Given the description of an element on the screen output the (x, y) to click on. 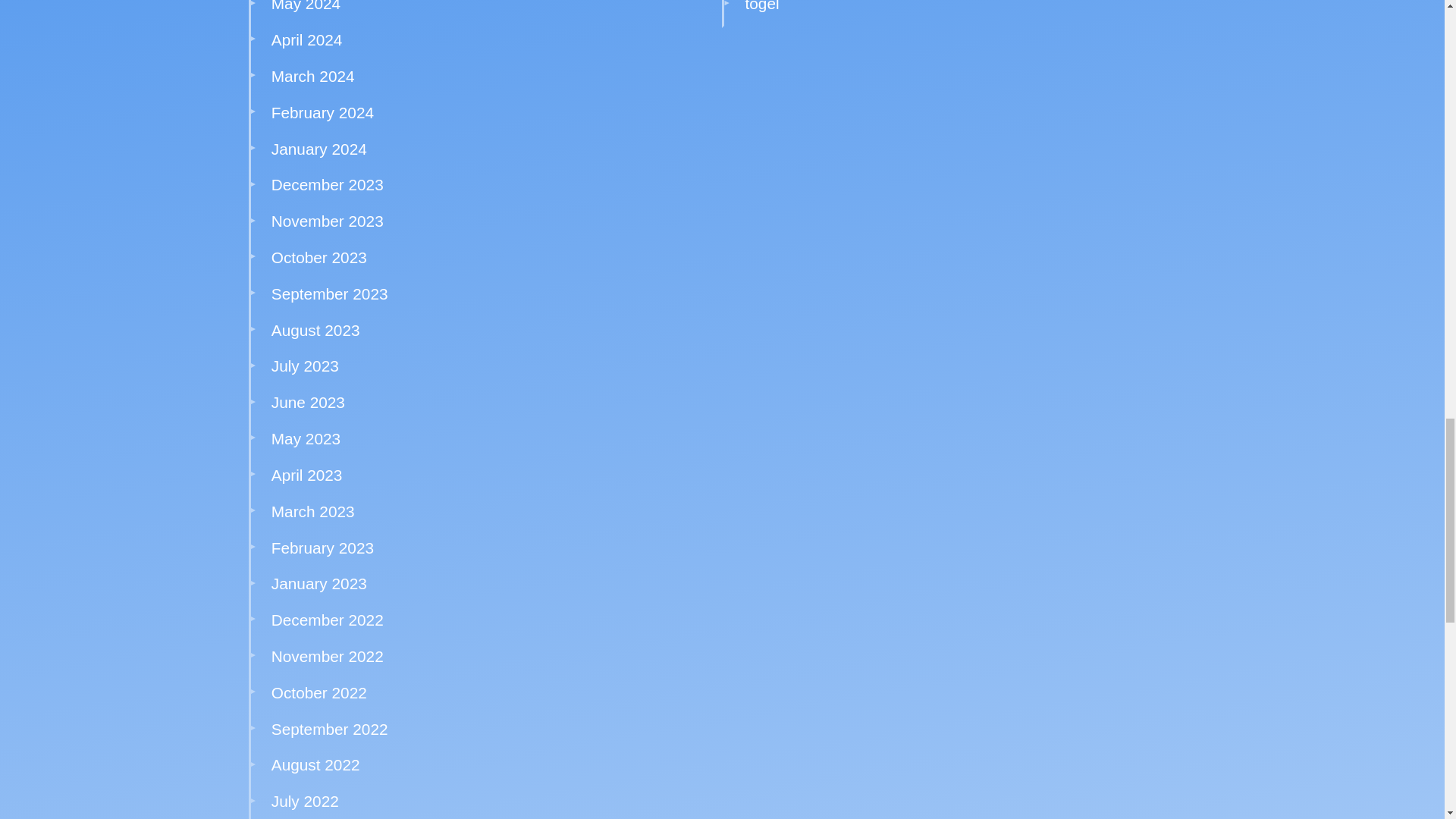
August 2022 (314, 764)
September 2022 (329, 728)
November 2022 (327, 656)
July 2022 (304, 800)
February 2024 (322, 112)
June 2023 (307, 402)
September 2023 (329, 293)
May 2024 (305, 6)
April 2023 (306, 475)
March 2024 (312, 76)
March 2023 (312, 511)
November 2023 (327, 221)
December 2023 (327, 184)
December 2022 (327, 619)
May 2023 (305, 438)
